Given the description of an element on the screen output the (x, y) to click on. 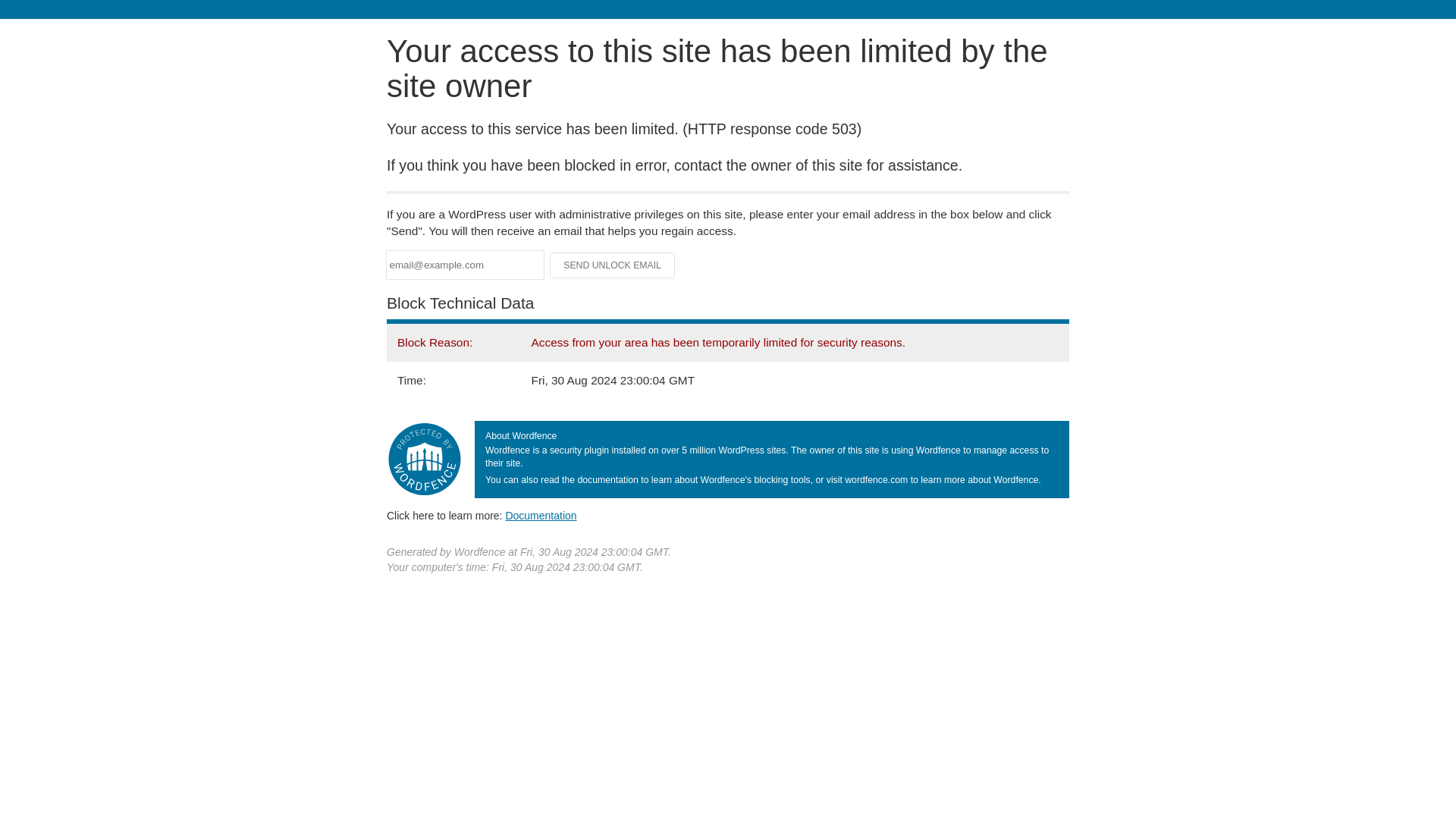
Documentation (540, 515)
Send Unlock Email (612, 265)
Send Unlock Email (612, 265)
